Given the description of an element on the screen output the (x, y) to click on. 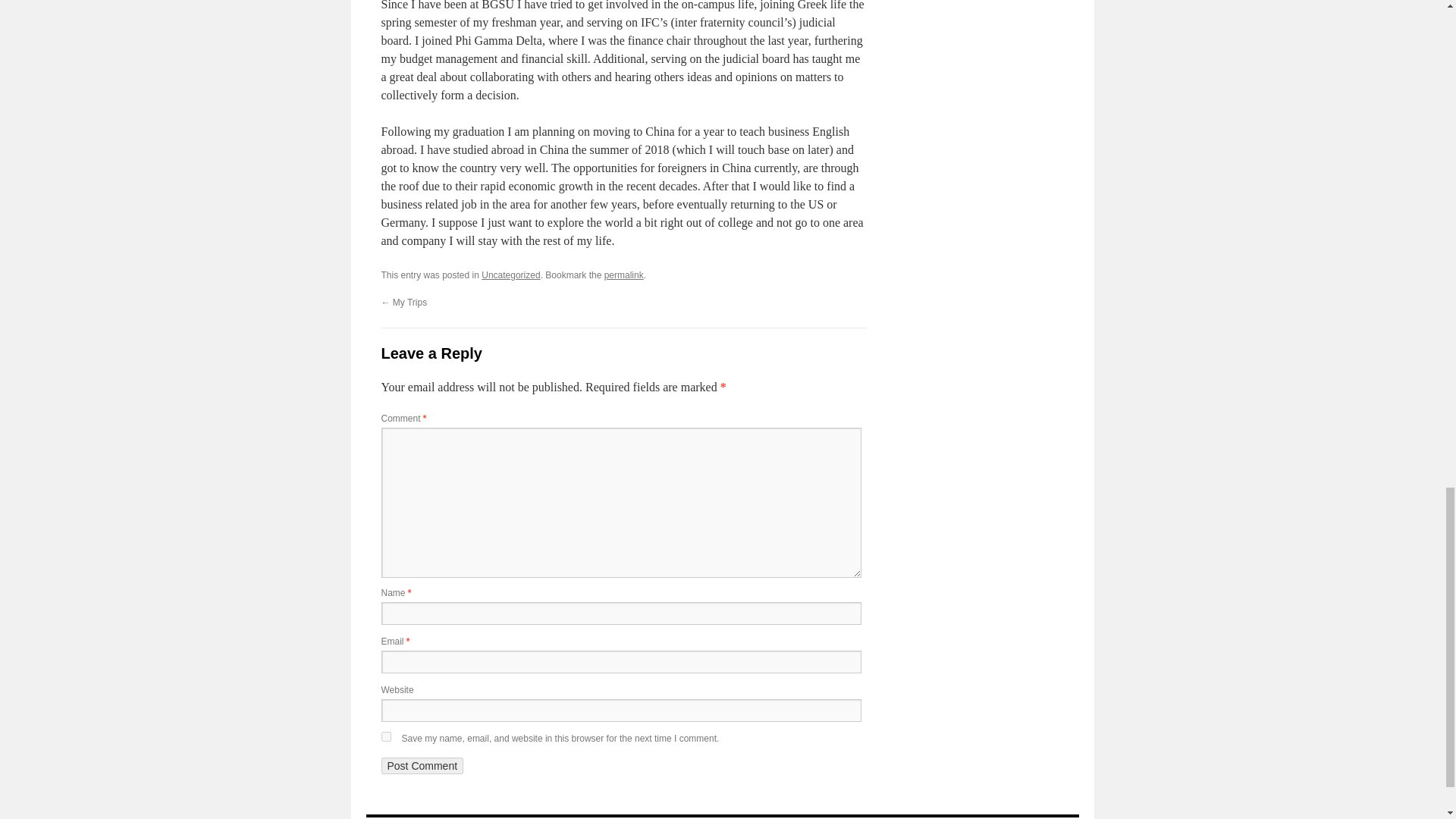
permalink (623, 275)
Permalink to About Myself (623, 275)
Post Comment (421, 765)
Post Comment (421, 765)
Uncategorized (510, 275)
yes (385, 737)
